Given the description of an element on the screen output the (x, y) to click on. 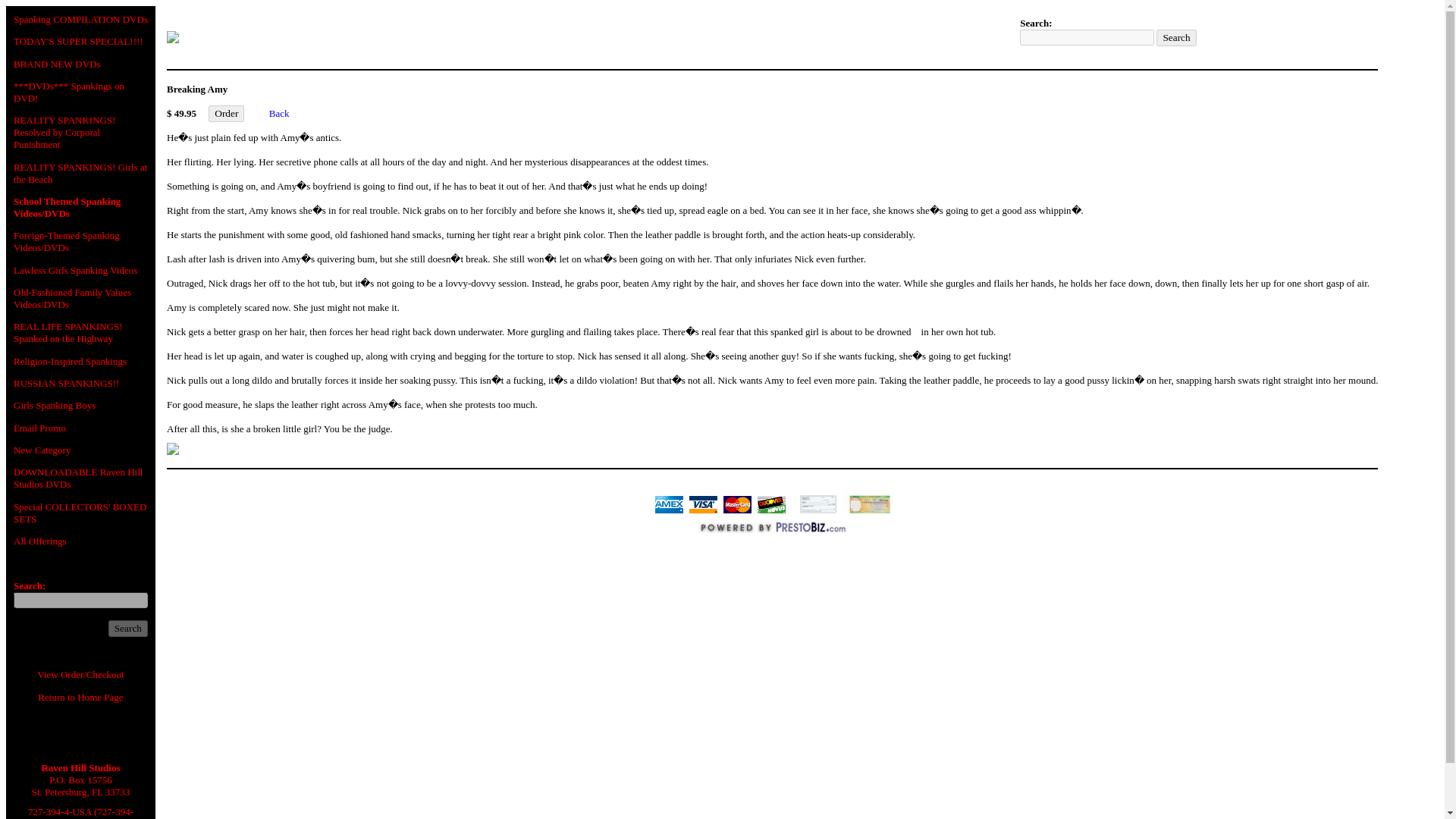
DOWNLOADABLE Raven Hill Studios DVDs (77, 477)
REAL LIFE SPANKINGS! Spanked on the Highway (67, 332)
All Offerings (39, 541)
RUSSIAN SPANKINGS!! (66, 383)
REALITY SPANKINGS! Resolved by Corporal Punishment (64, 131)
Order (226, 113)
New Category (41, 449)
Email Promo (39, 428)
Lawless Girls Spanking Videos (74, 270)
REALITY SPANKINGS! Girls at the Beach (80, 173)
BRAND NEW DVDs (56, 63)
Girls Spanking Boys (54, 405)
Back (279, 112)
TODAY'S SUPER SPECIAL!!!! (77, 41)
Search (1175, 37)
